Given the description of an element on the screen output the (x, y) to click on. 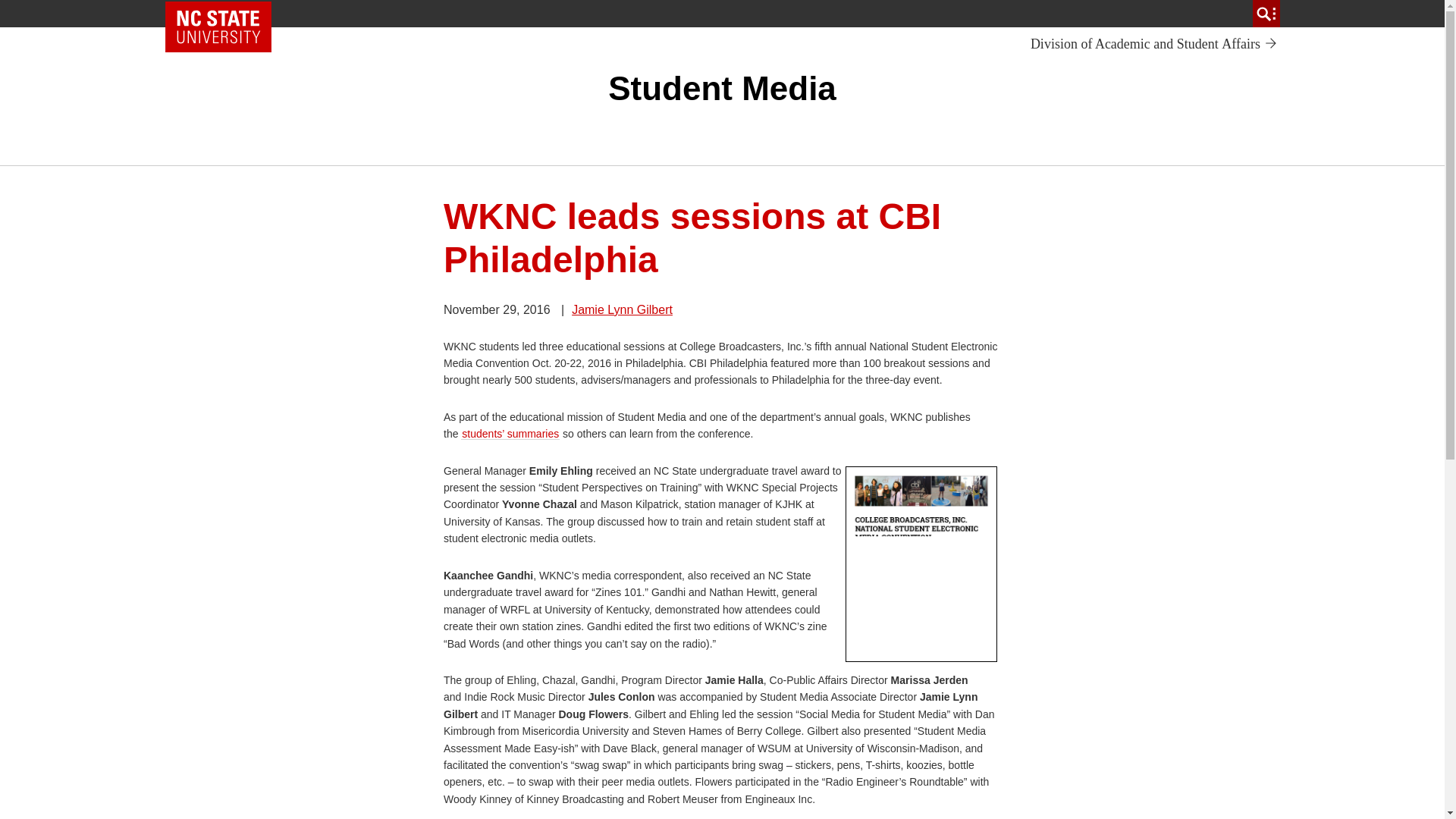
Student Media (1154, 44)
Posts by Jamie Lynn Gilbert (721, 88)
Skip to main content (622, 309)
